Given the description of an element on the screen output the (x, y) to click on. 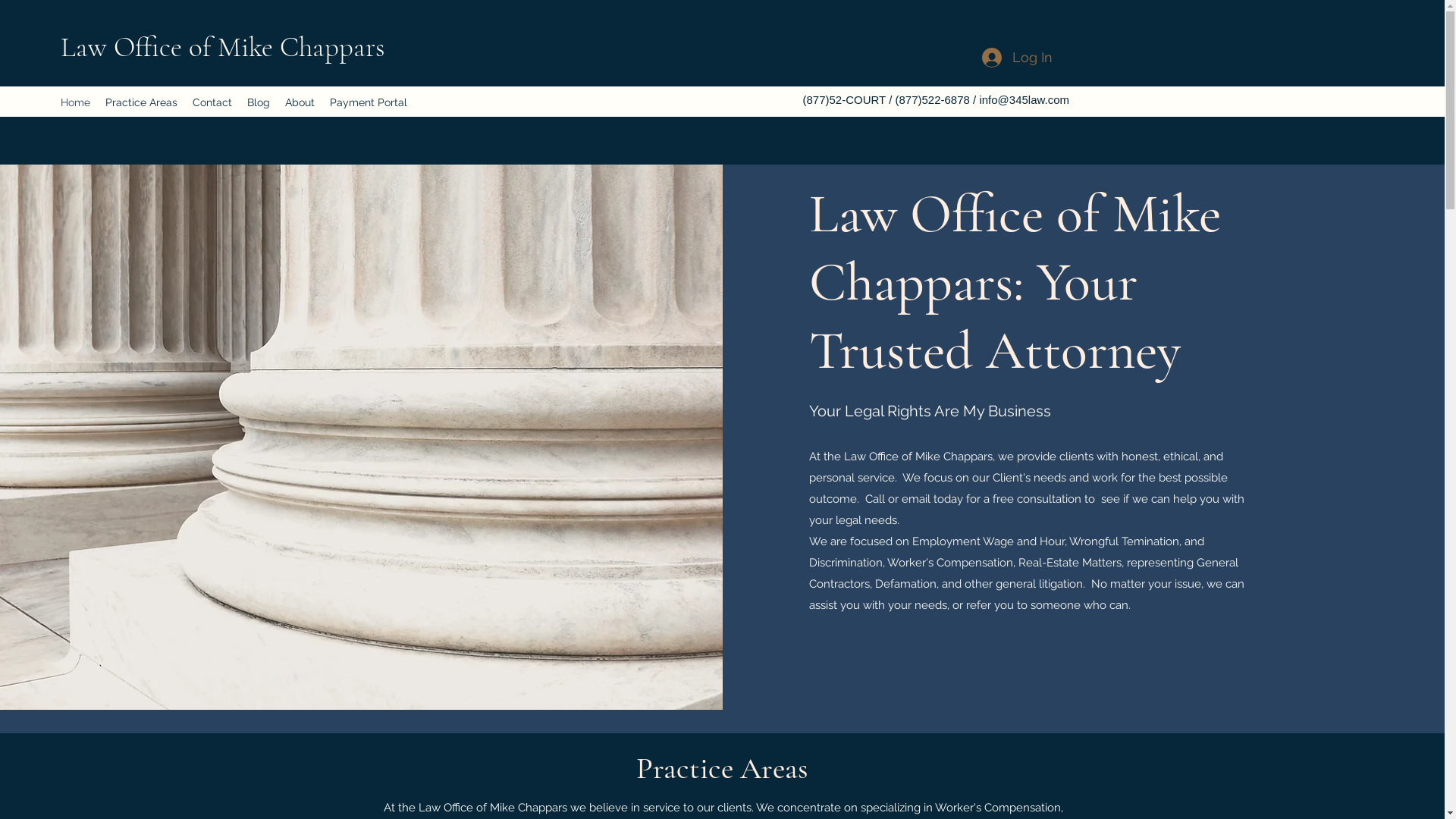
info@345law.com Element type: text (1024, 99)
Law Office of Mike Chappars Element type: text (222, 47)
Home Element type: text (75, 102)
Log In Element type: text (1015, 57)
About Element type: text (299, 102)
Payment Portal Element type: text (368, 102)
Practice Areas Element type: text (141, 102)
Blog Element type: text (258, 102)
Contact Element type: text (212, 102)
